Given the description of an element on the screen output the (x, y) to click on. 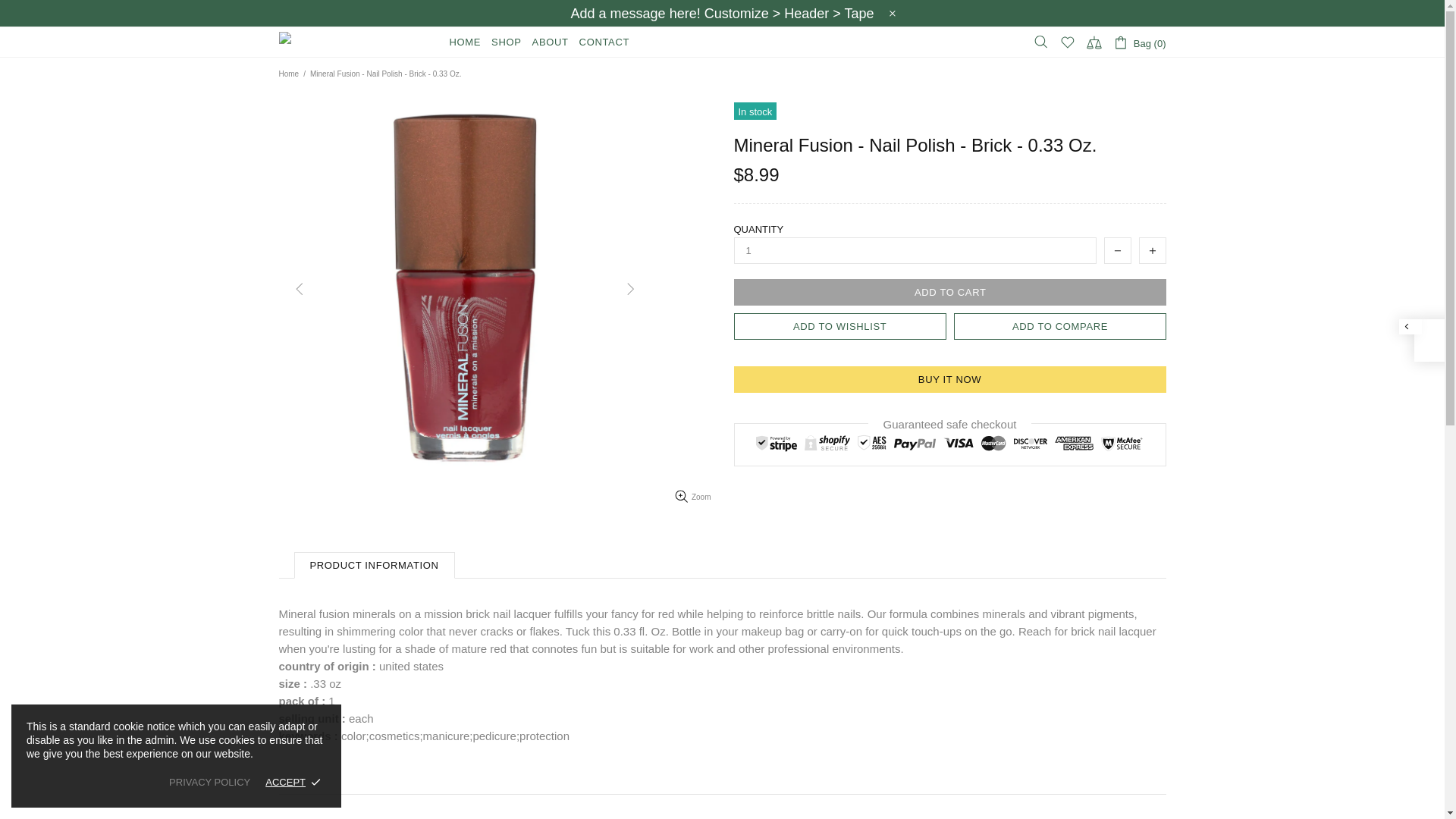
SHOP (505, 42)
Home (288, 73)
ABOUT (550, 42)
ADD TO CART (949, 292)
ADD TO COMPARE (1059, 325)
USD Green Grocery (354, 41)
HOME (465, 42)
SUBSCRIBE! (889, 696)
CONTACT (603, 42)
BUY IT NOW (949, 379)
1 (914, 250)
ADD TO WISHLIST (839, 325)
